Given the description of an element on the screen output the (x, y) to click on. 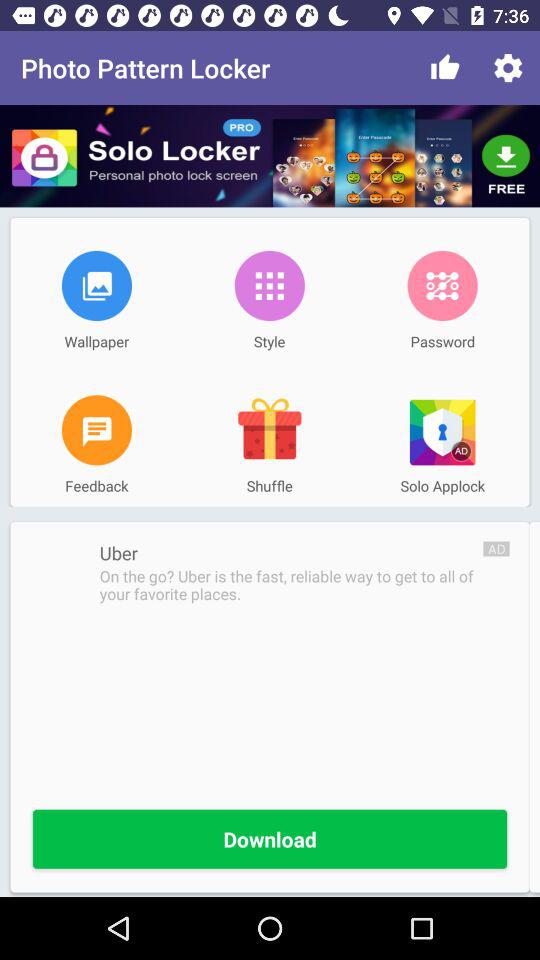
press icon to the left of solo applock (269, 430)
